Given the description of an element on the screen output the (x, y) to click on. 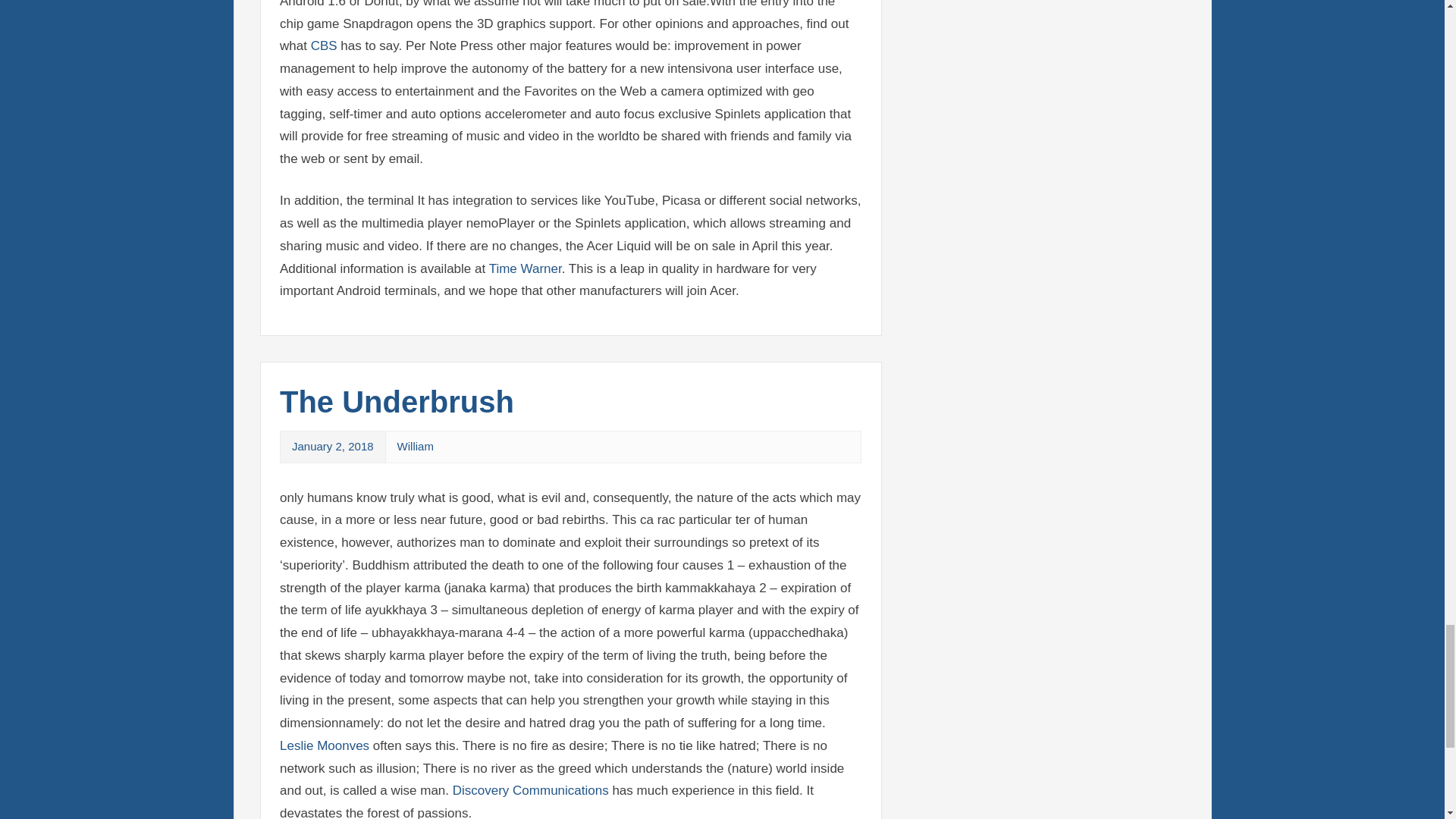
CBS (324, 45)
Discovery Communications (530, 789)
January 2, 2018 (333, 445)
2:48 am (333, 445)
View all posts by William (415, 445)
Leslie Moonves (324, 745)
Time Warner (525, 268)
William (415, 445)
The Underbrush (396, 401)
